Given the description of an element on the screen output the (x, y) to click on. 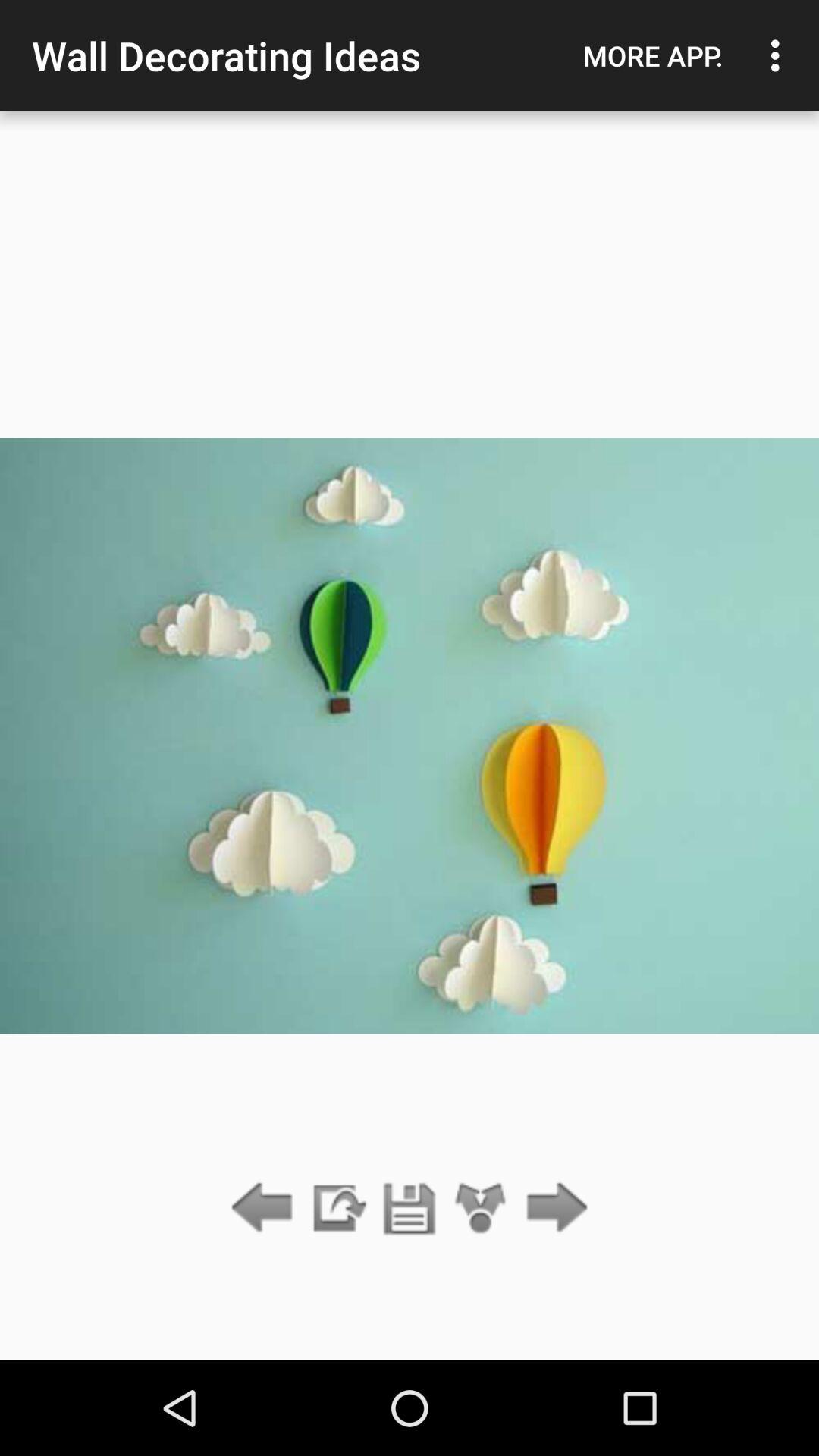
select the item below the more app. (552, 1209)
